Given the description of an element on the screen output the (x, y) to click on. 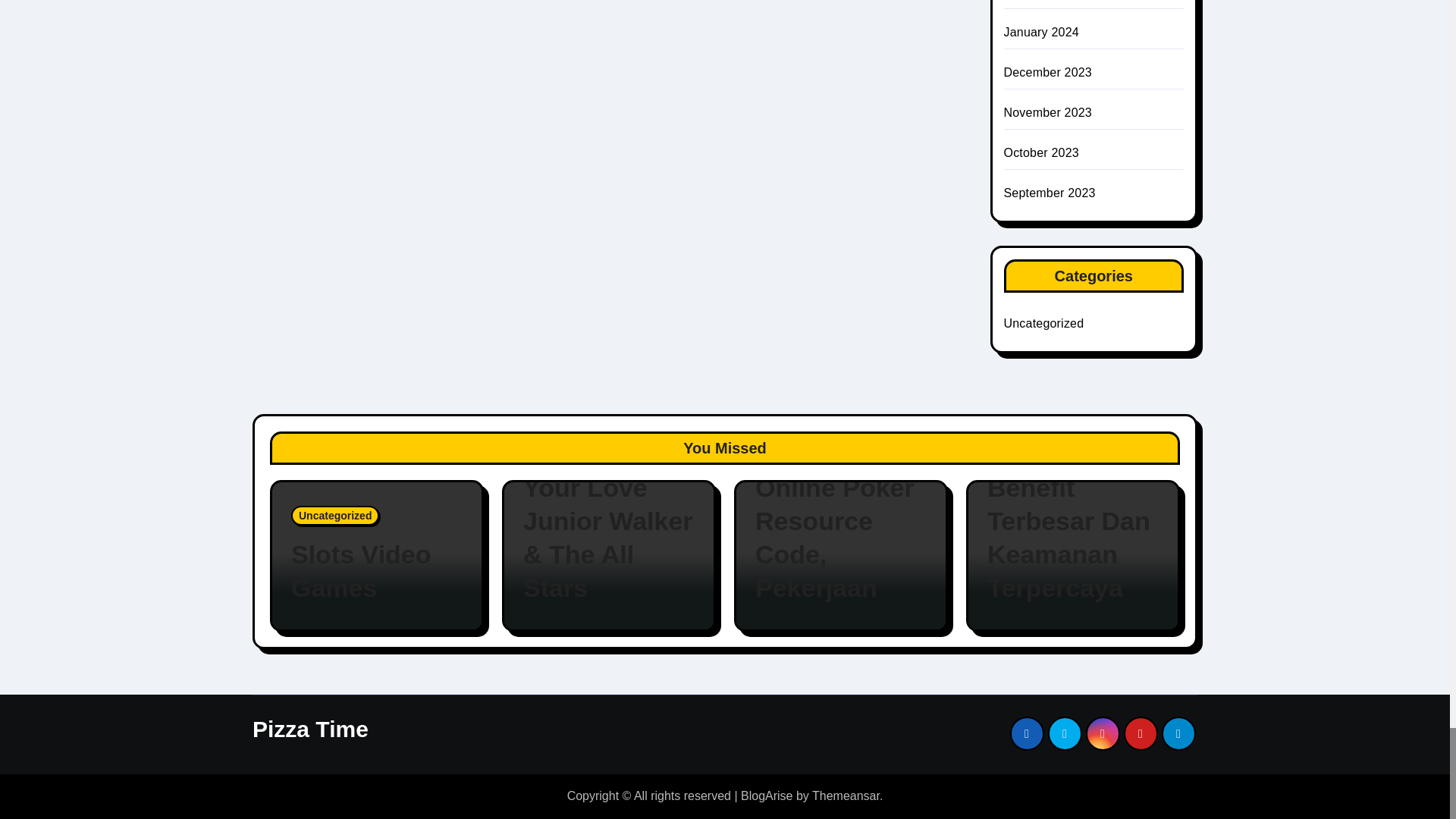
Permalink to: Slots Video Games (377, 570)
